Given the description of an element on the screen output the (x, y) to click on. 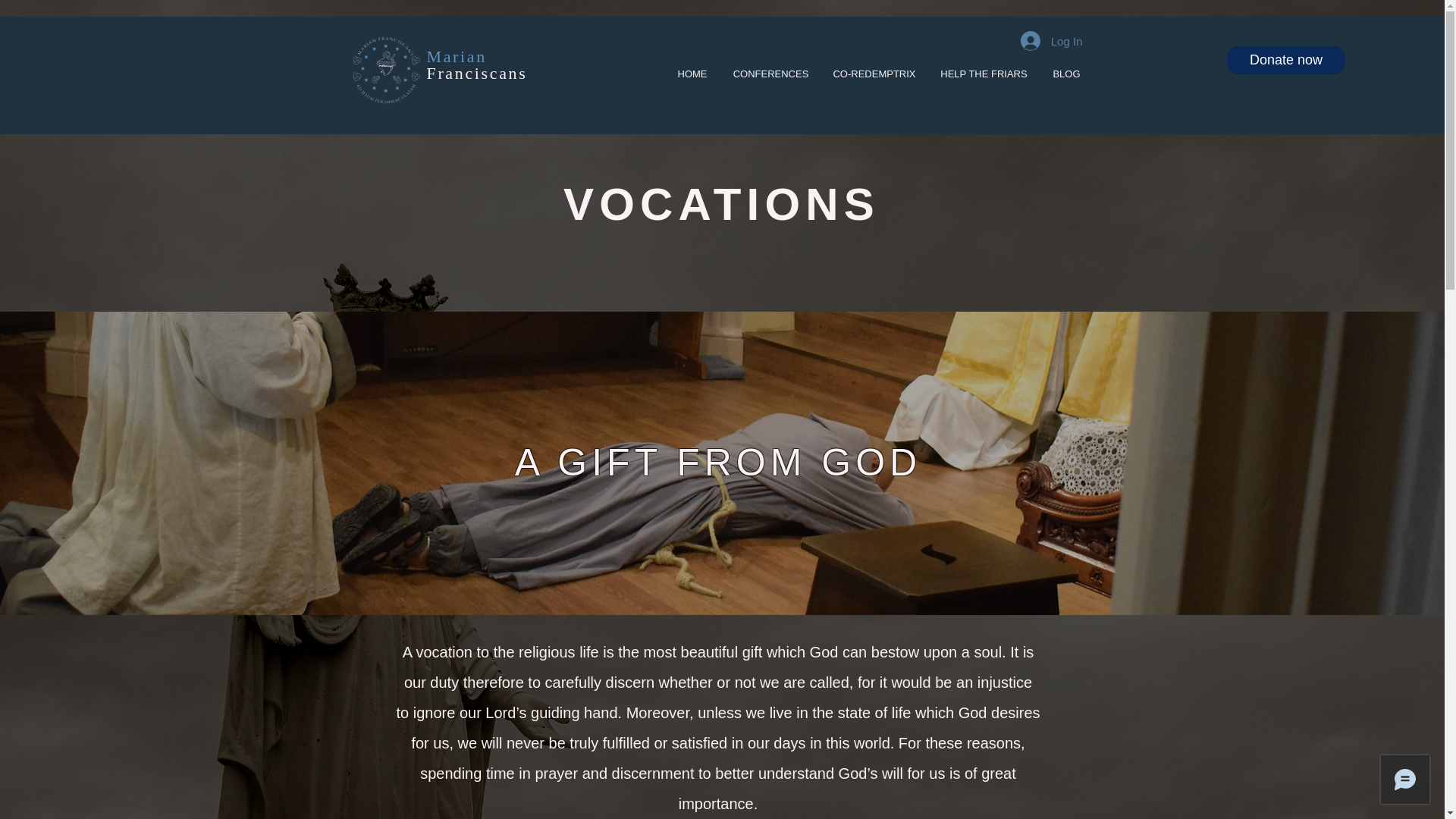
Log In (1051, 40)
CO-REDEMPTRIX (874, 73)
HOME (691, 73)
BLOG (1067, 73)
CONFERENCES (476, 64)
HELP THE FRIARS (770, 73)
Embedded Content (984, 73)
